Given the description of an element on the screen output the (x, y) to click on. 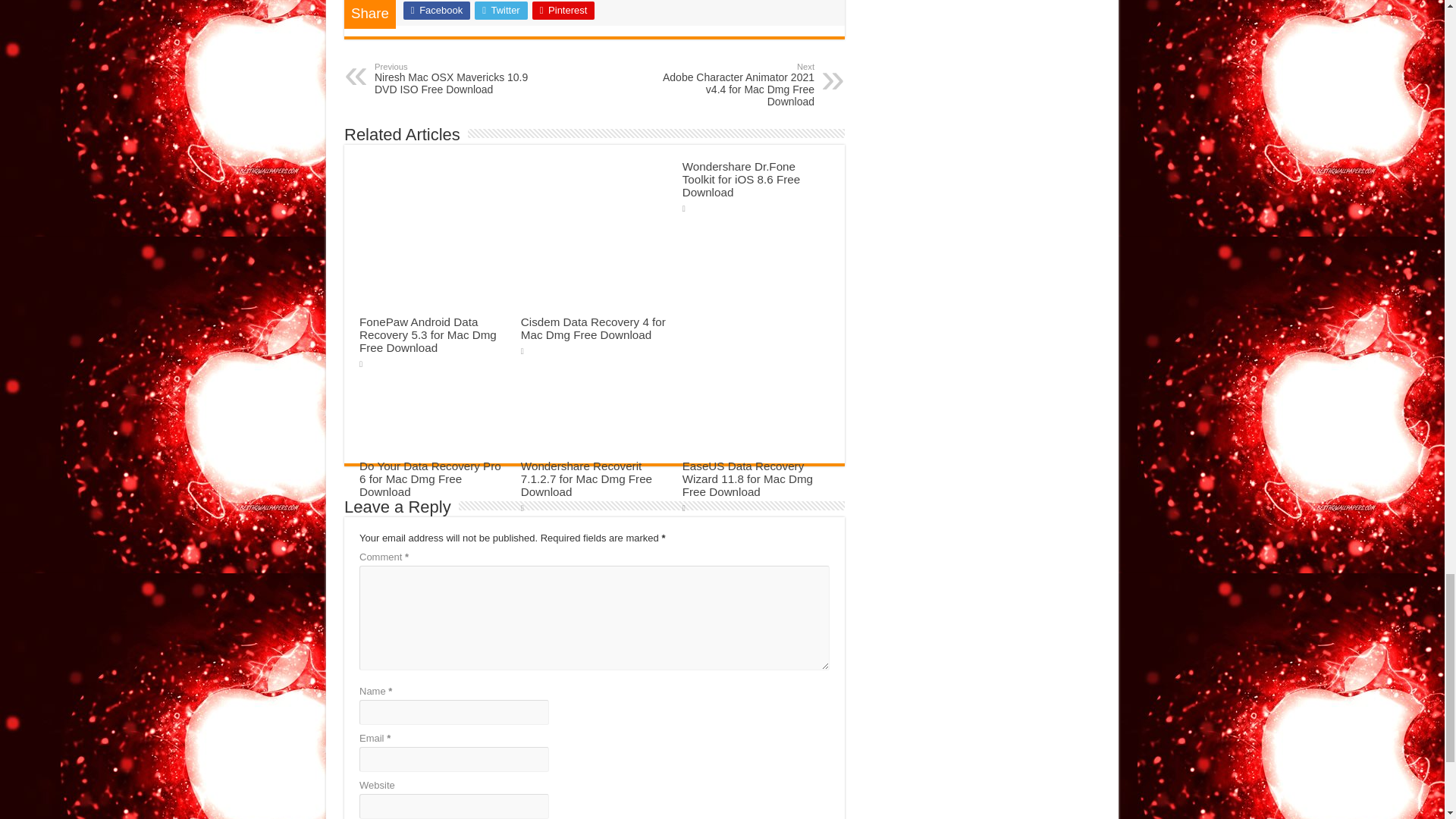
Pinterest (563, 10)
Twitter (500, 10)
Facebook (436, 10)
